Given the description of an element on the screen output the (x, y) to click on. 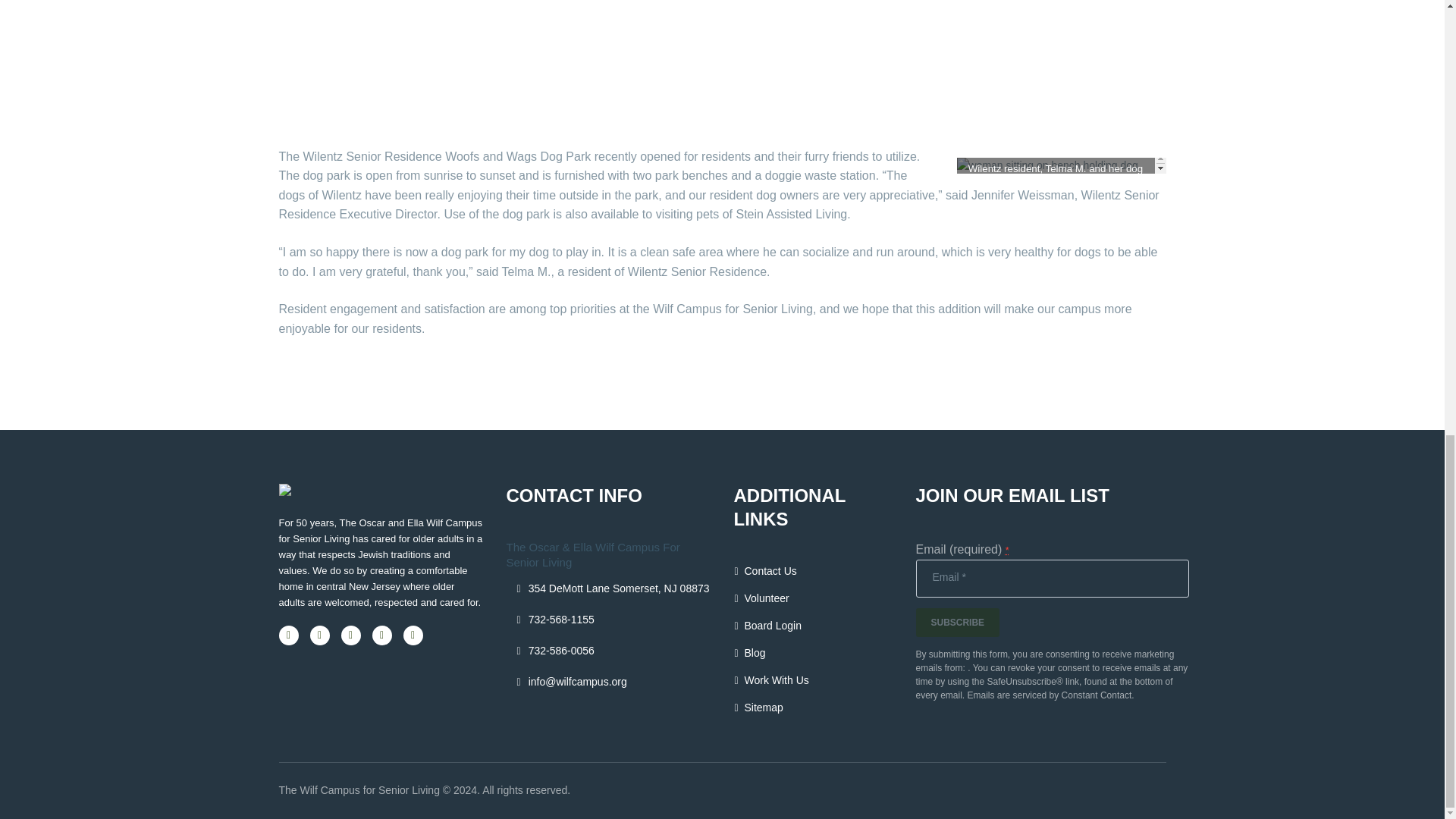
Subscribe (957, 622)
